Given the description of an element on the screen output the (x, y) to click on. 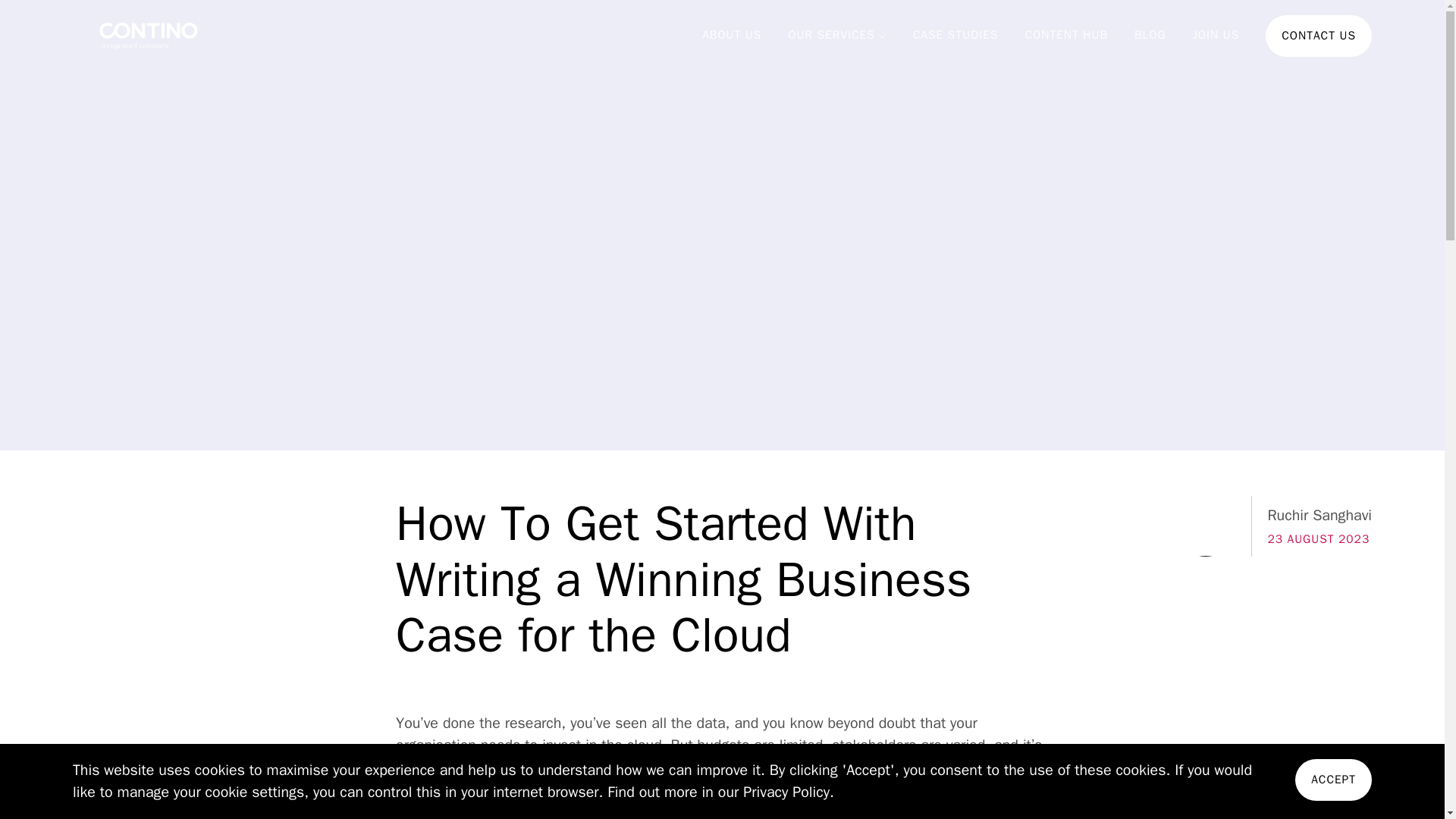
ACCEPT (1333, 779)
BLOG (1150, 35)
OUR SERVICES (831, 35)
Privacy Policy. (788, 791)
CONTENT HUB (1066, 35)
ABOUT US (731, 35)
JOIN US (1216, 35)
CONTACT US (1318, 35)
CASE STUDIES (955, 35)
